Given the description of an element on the screen output the (x, y) to click on. 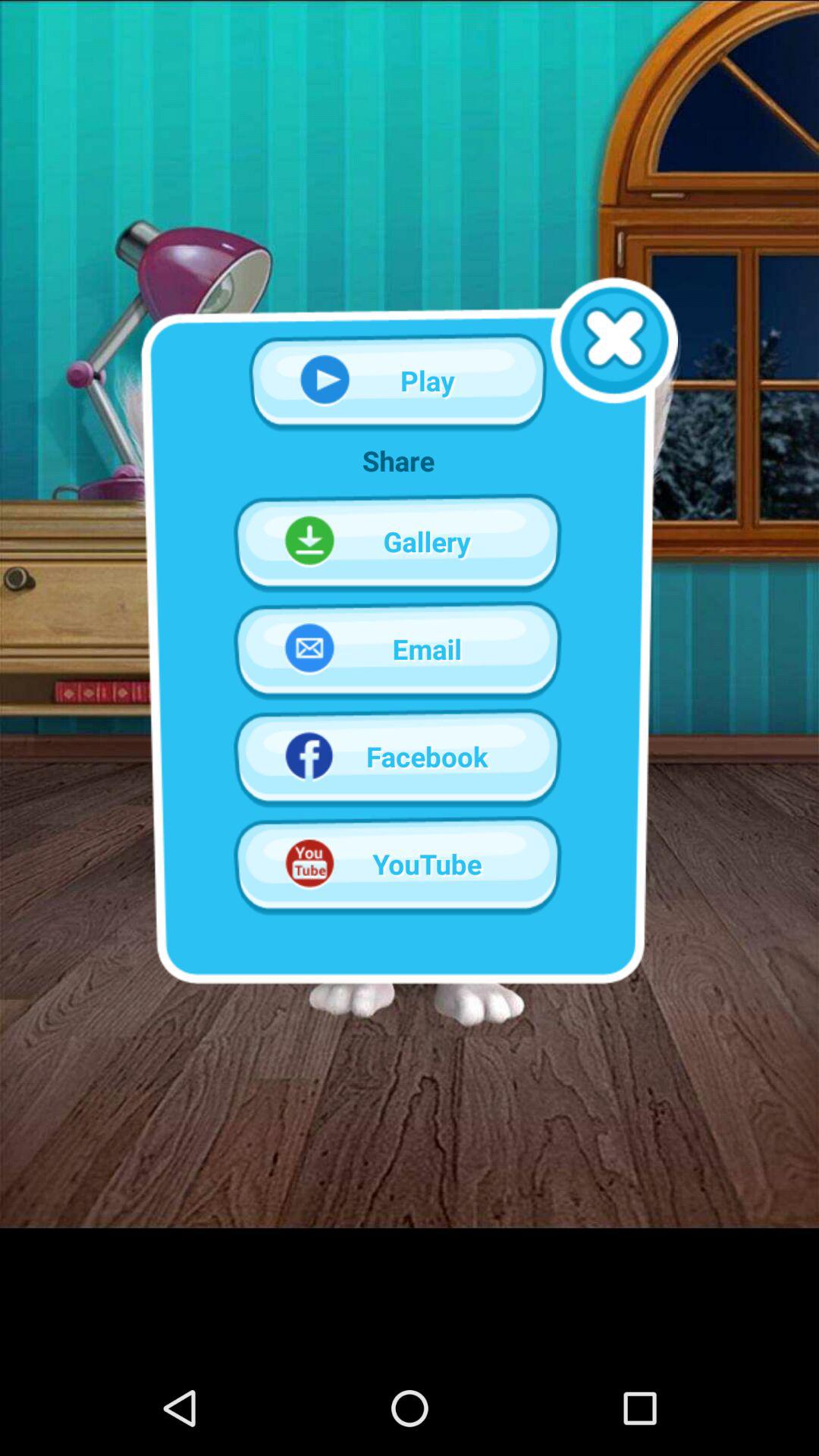
close menu (613, 340)
